Given the description of an element on the screen output the (x, y) to click on. 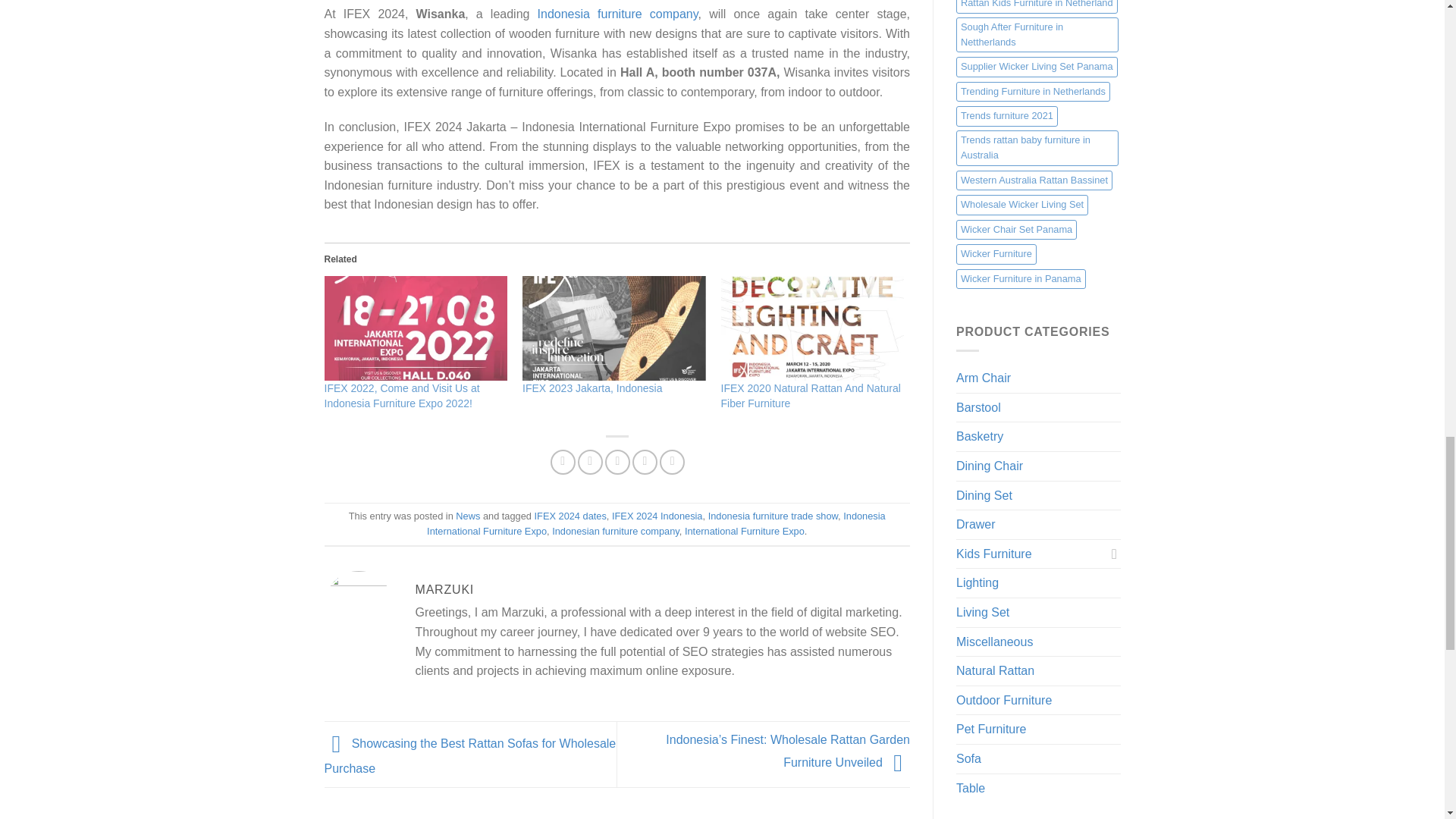
IFEX 2020 Natural Rattan And Natural Fiber Furniture (810, 395)
Share on LinkedIn (671, 462)
Share on Facebook (562, 462)
IFEX 2020 Natural Rattan And Natural Fiber Furniture (812, 328)
Indonesia furniture company (617, 13)
Pin on Pinterest (644, 462)
IFEX 2020 Natural Rattan And Natural Fiber Furniture (810, 395)
Share on Twitter (590, 462)
IFEX 2023 Jakarta, Indonesia (592, 387)
IFEX 2023 Jakarta, Indonesia (614, 328)
Email to a Friend (617, 462)
IFEX 2023 Jakarta, Indonesia (592, 387)
